Given the description of an element on the screen output the (x, y) to click on. 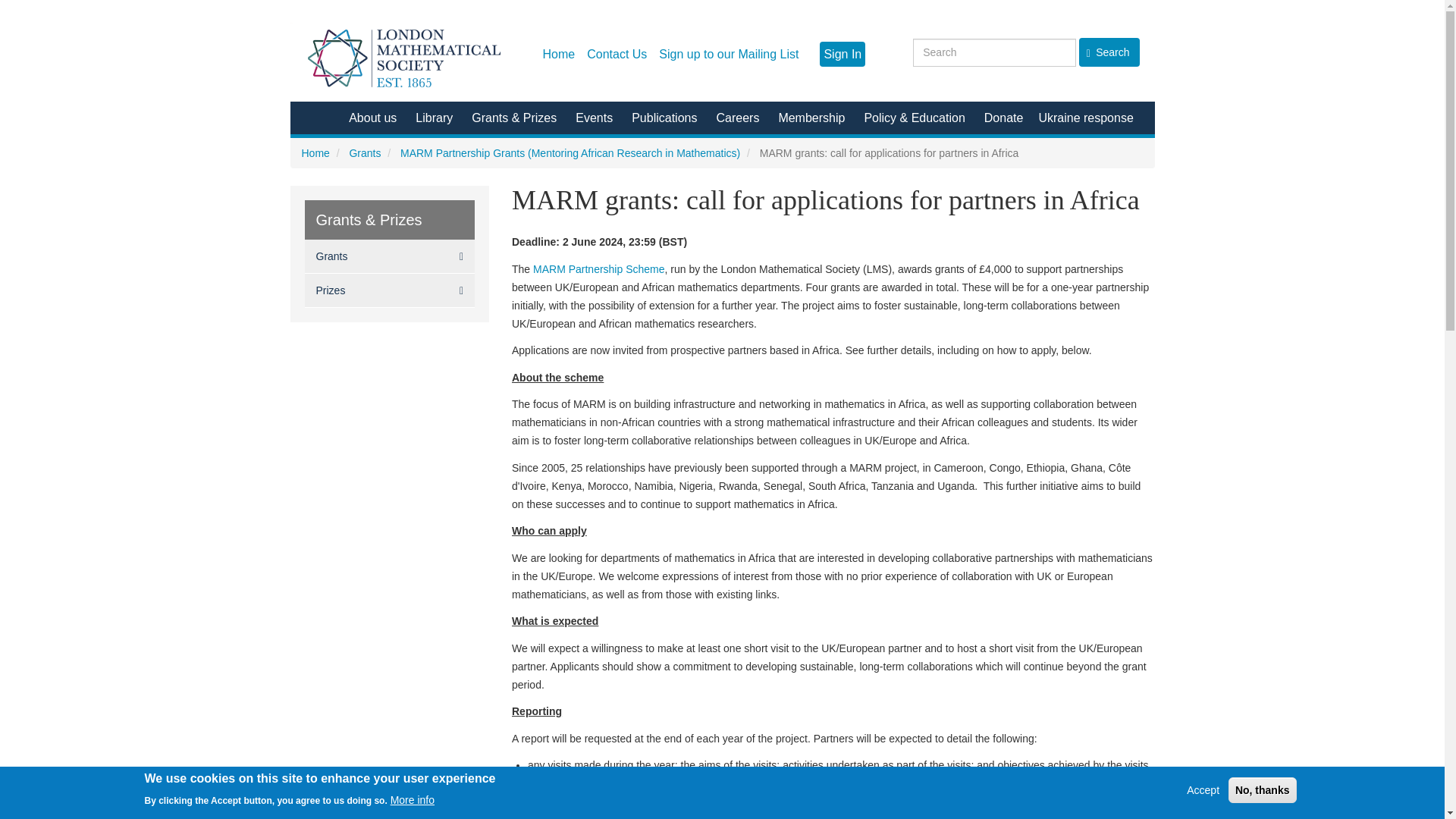
Contact Us (616, 54)
Home (558, 54)
Home (408, 58)
Contact page (616, 54)
Library (433, 117)
This contains information about the LMS (372, 117)
Sign up to our Mailing List (728, 54)
Homepage (558, 54)
Sign In (841, 53)
About us (372, 117)
Sign up to our Mailing List (728, 54)
Search (1108, 51)
